Given the description of an element on the screen output the (x, y) to click on. 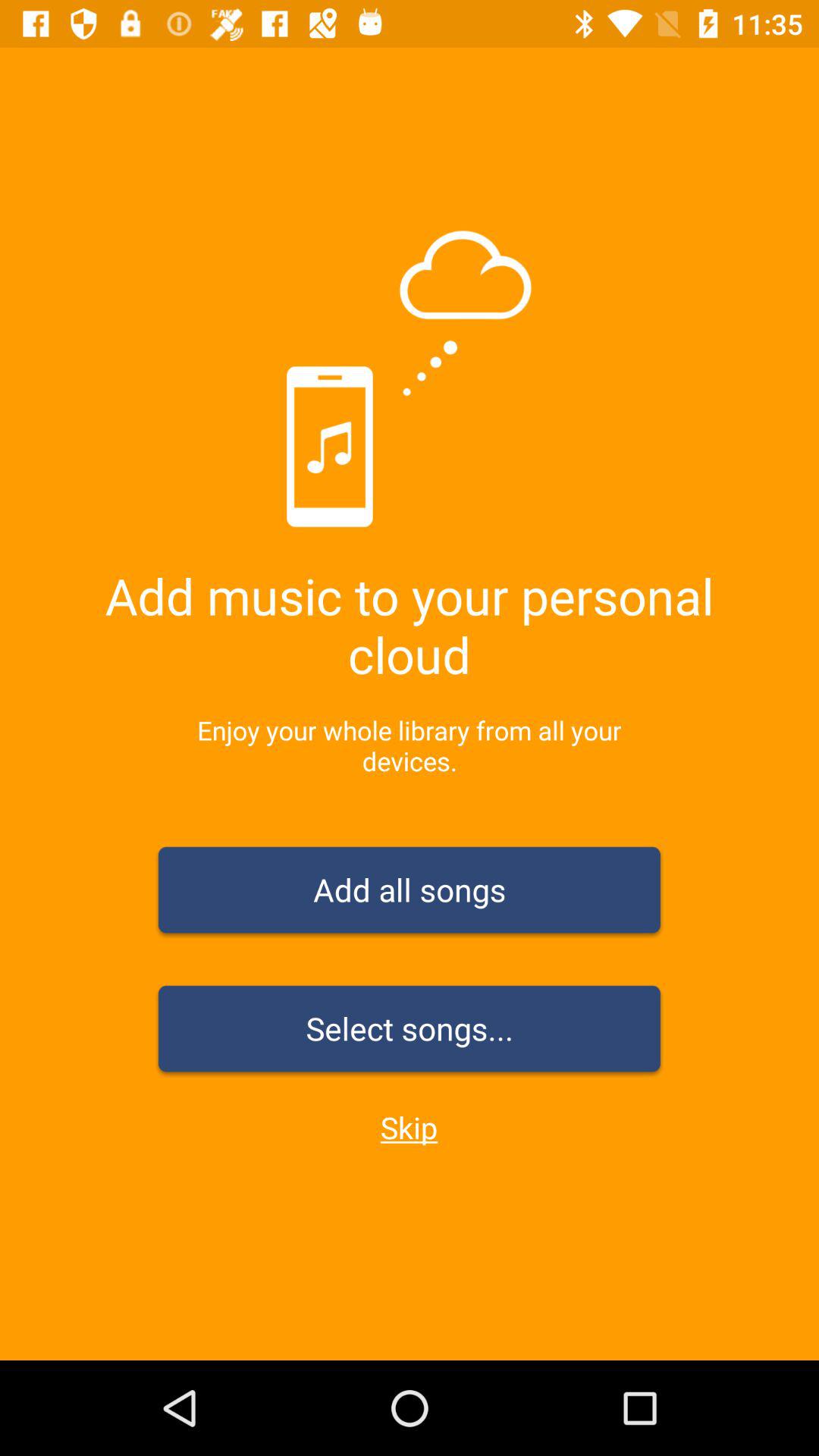
select the add all songs item (409, 892)
